Given the description of an element on the screen output the (x, y) to click on. 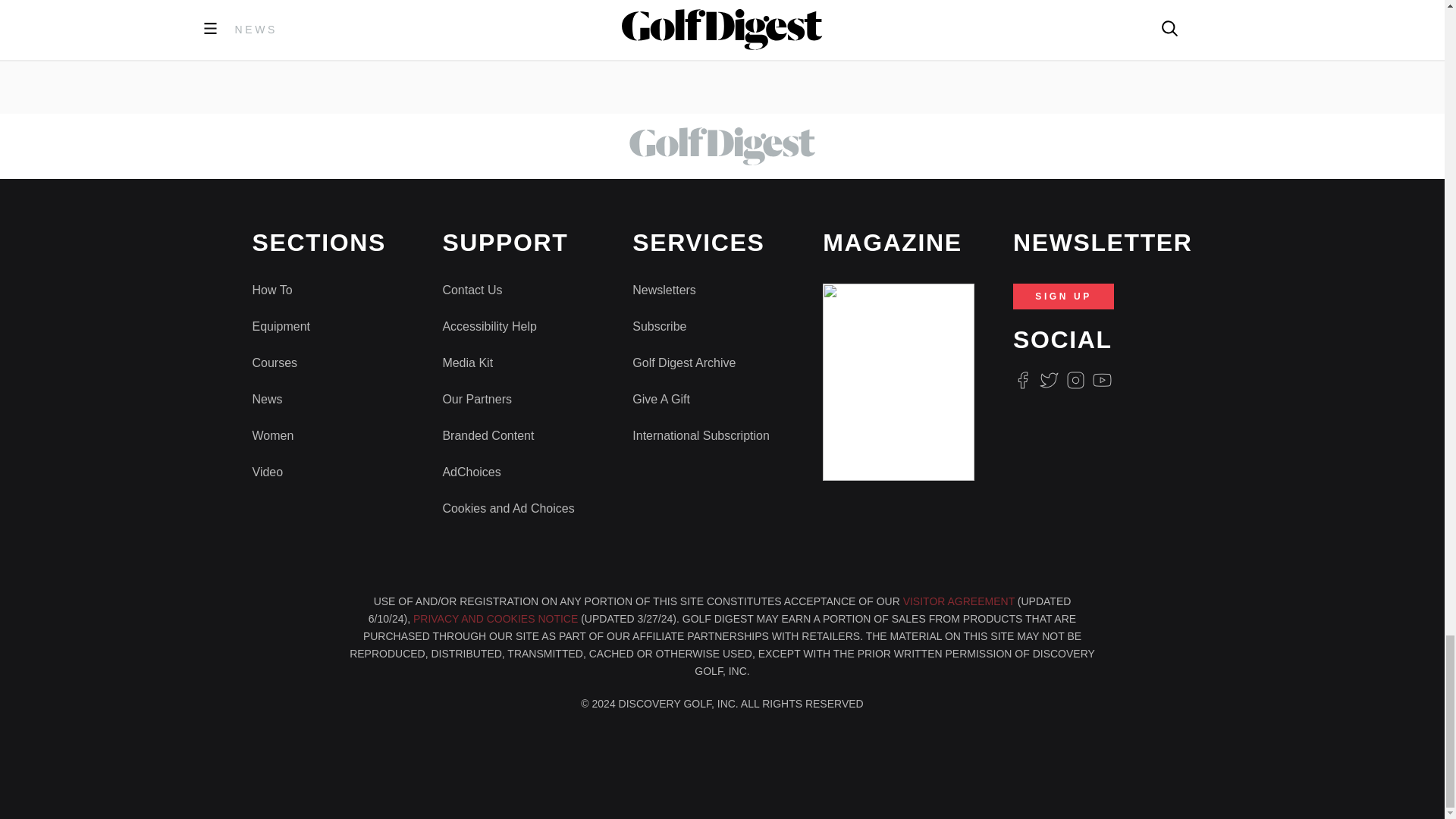
Twitter Logo (1048, 380)
Facebook Logo (1022, 380)
Youtube Icon (1102, 380)
Instagram Logo (1074, 380)
